Given the description of an element on the screen output the (x, y) to click on. 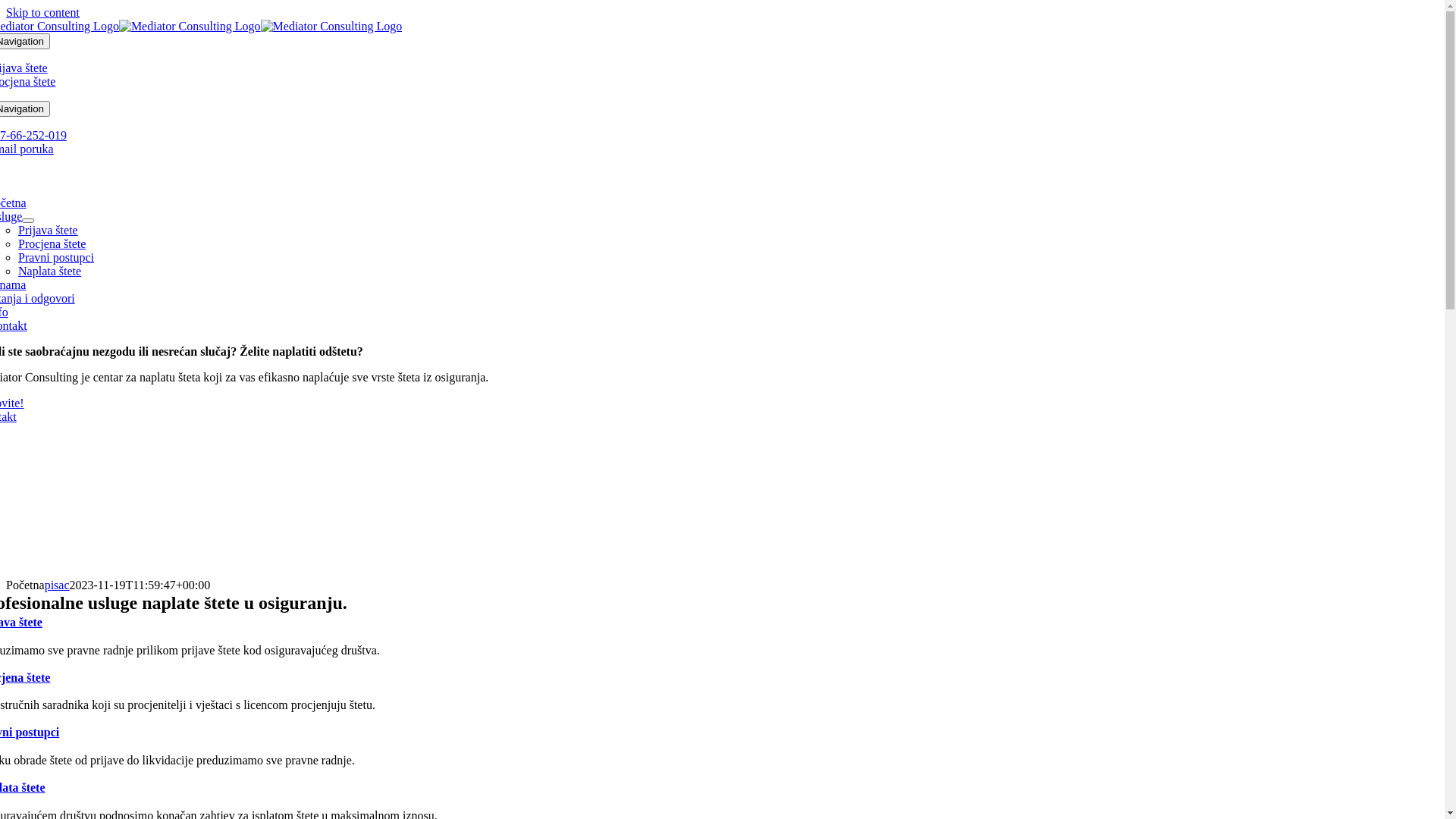
Pravni postupci Element type: text (56, 257)
pisac Element type: text (56, 584)
img_frontpage_5 Element type: hover (473, 499)
Skip to content Element type: text (42, 12)
